Given the description of an element on the screen output the (x, y) to click on. 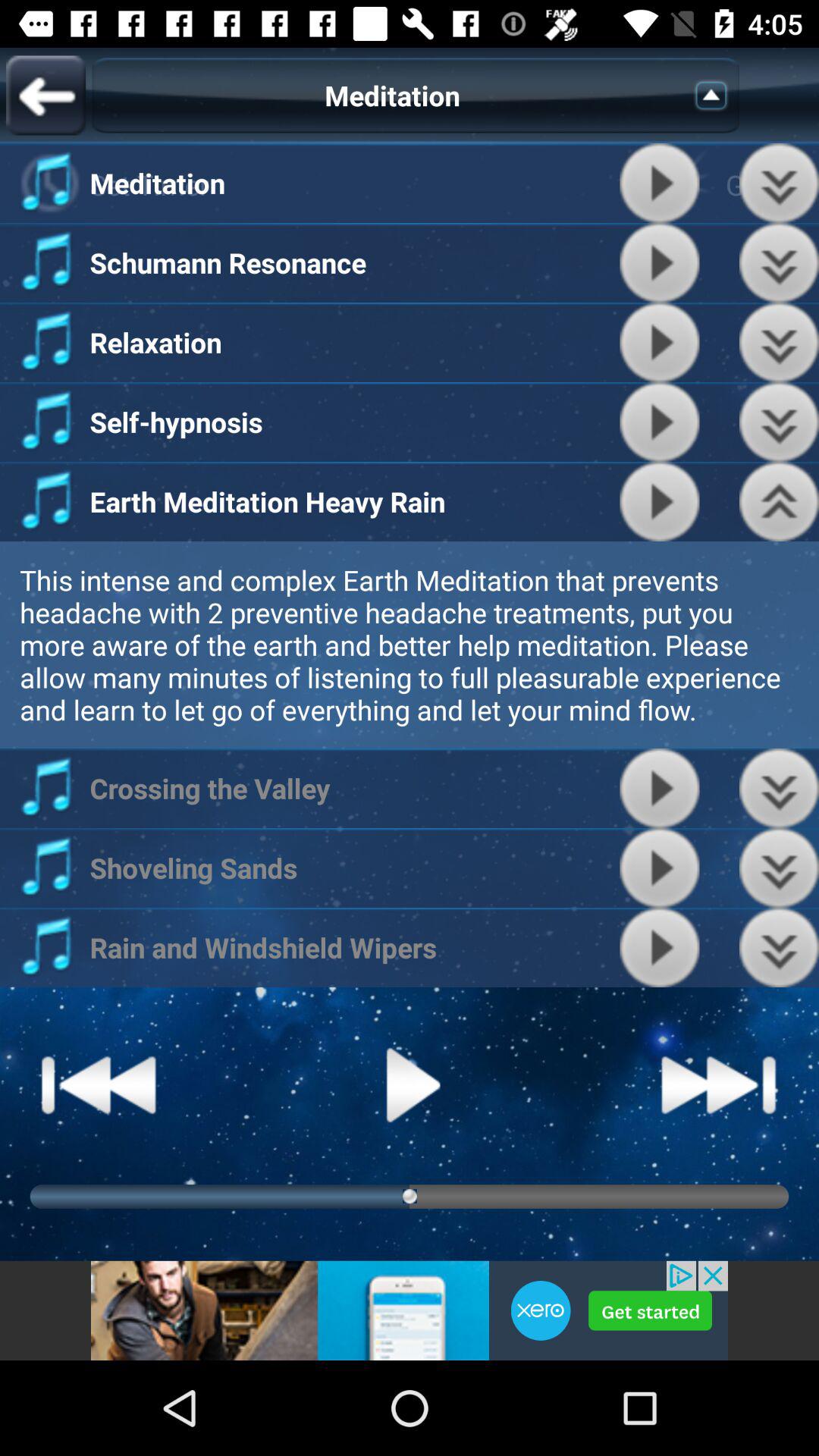
click start (659, 501)
